Given the description of an element on the screen output the (x, y) to click on. 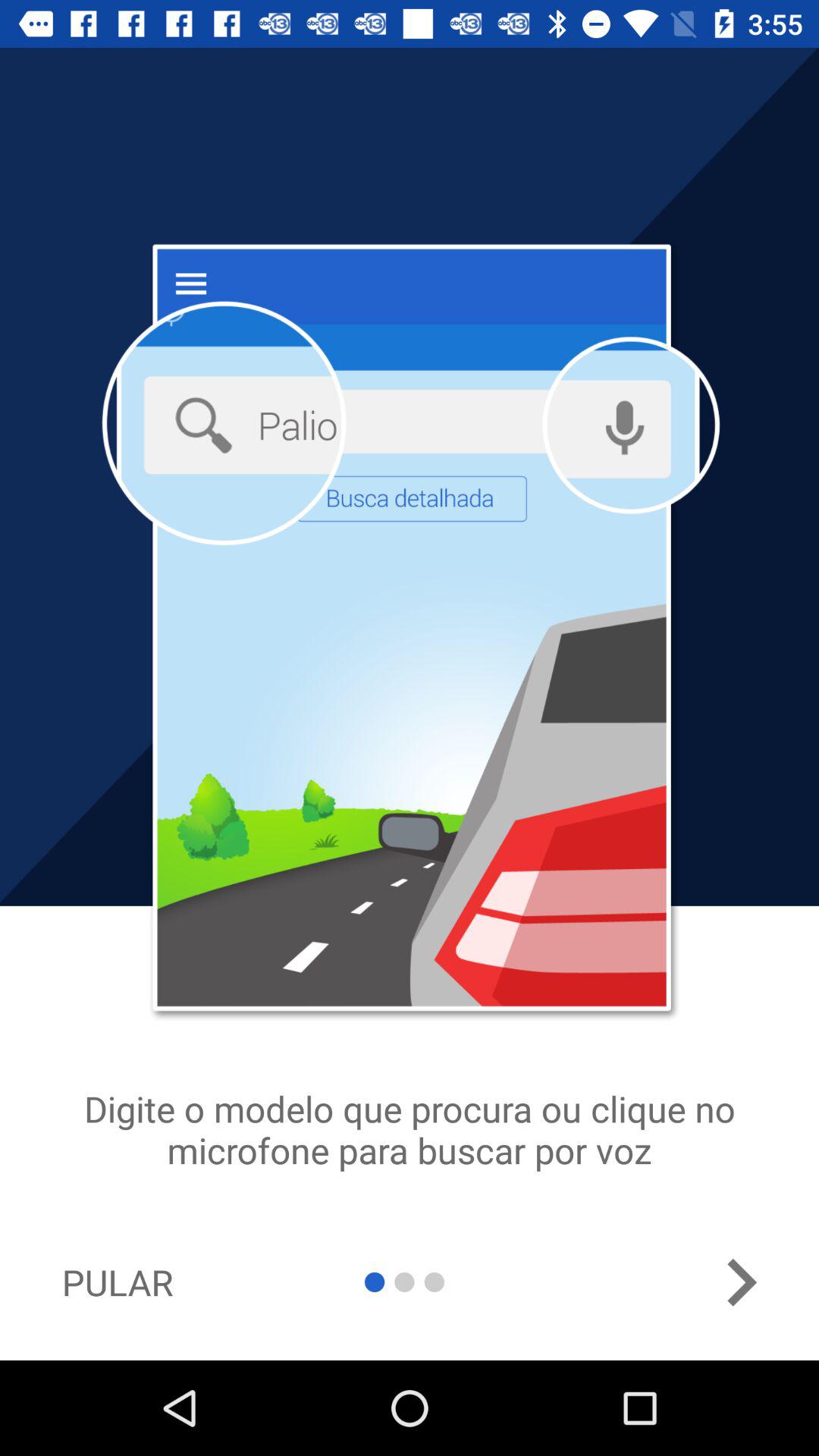
go to next image (740, 1282)
